Given the description of an element on the screen output the (x, y) to click on. 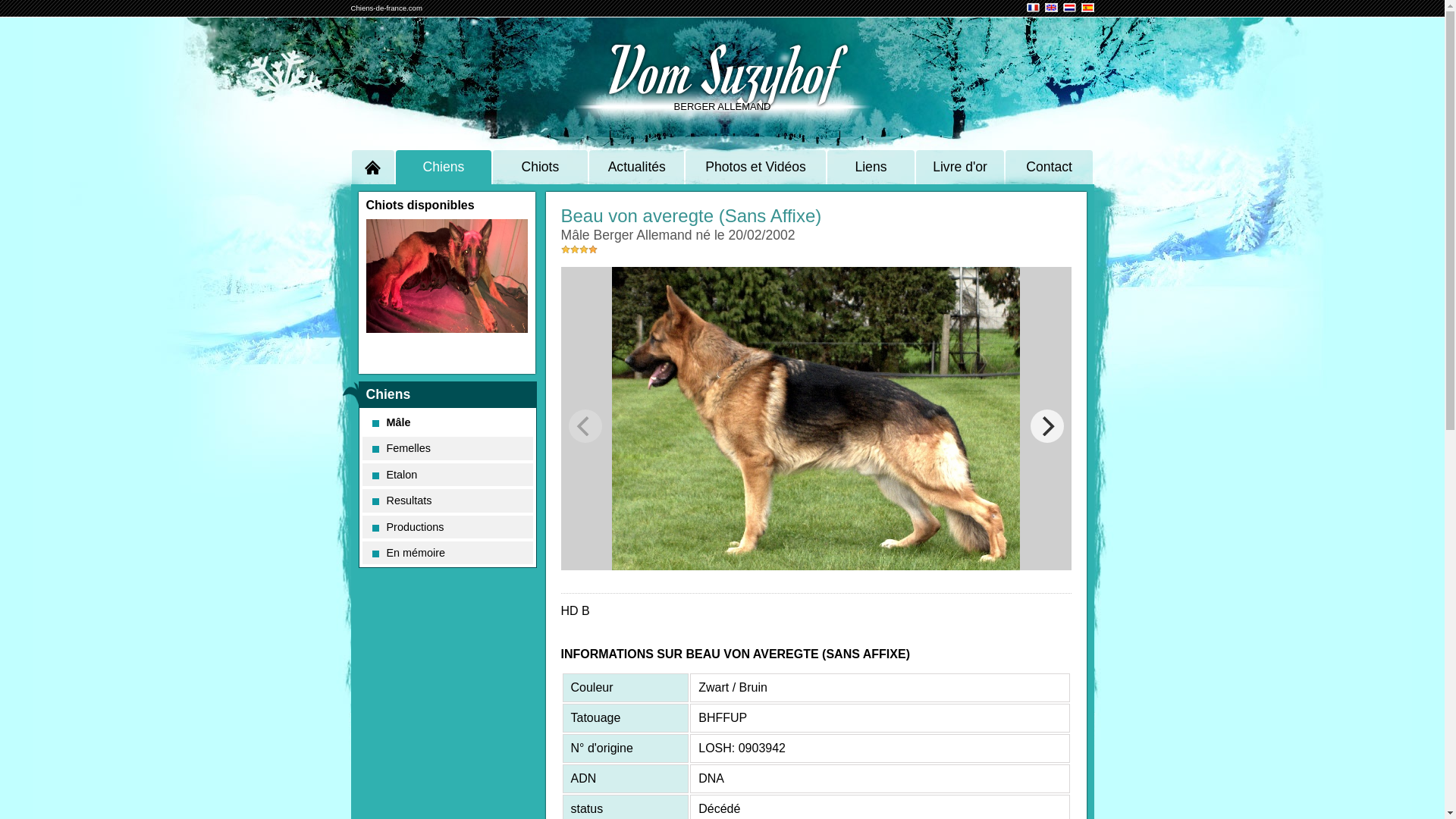
Productions Element type: text (447, 526)
Resultats Element type: text (447, 500)
Contact Element type: text (1049, 167)
Etalon Element type: text (447, 474)
Femelles Element type: text (447, 447)
Livre d'or Element type: text (960, 167)
Chiots Element type: text (539, 167)
Liens Element type: text (871, 167)
Chiens-de-france.com Element type: text (385, 8)
Accueil Element type: hover (373, 167)
Chiens Element type: text (442, 167)
Vom Suzyhof Element type: text (722, 68)
